Given the description of an element on the screen output the (x, y) to click on. 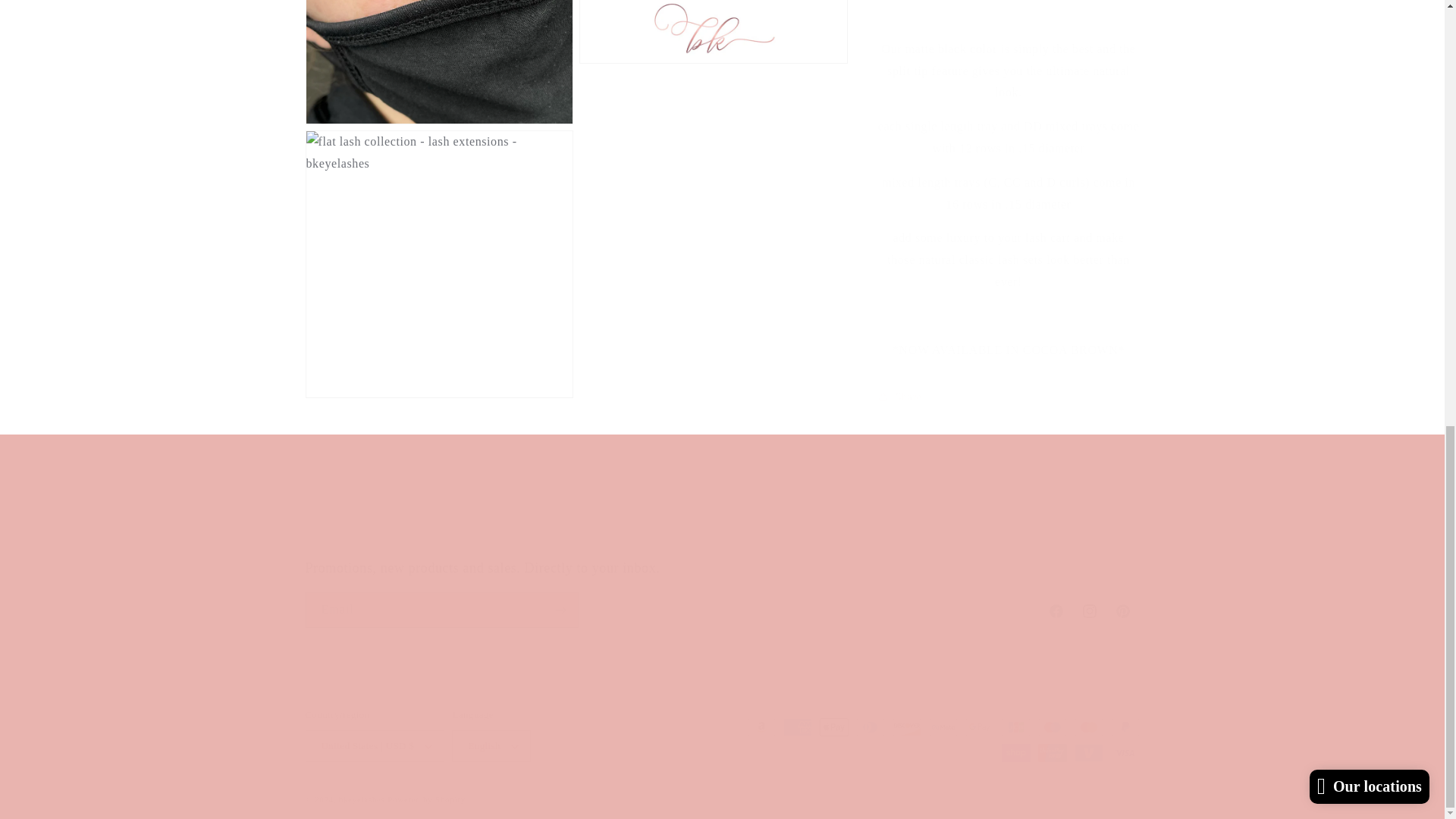
Open media 2 in modal (438, 54)
Open media 3 in modal (721, 506)
Open media 4 in modal (713, 54)
